Given the description of an element on the screen output the (x, y) to click on. 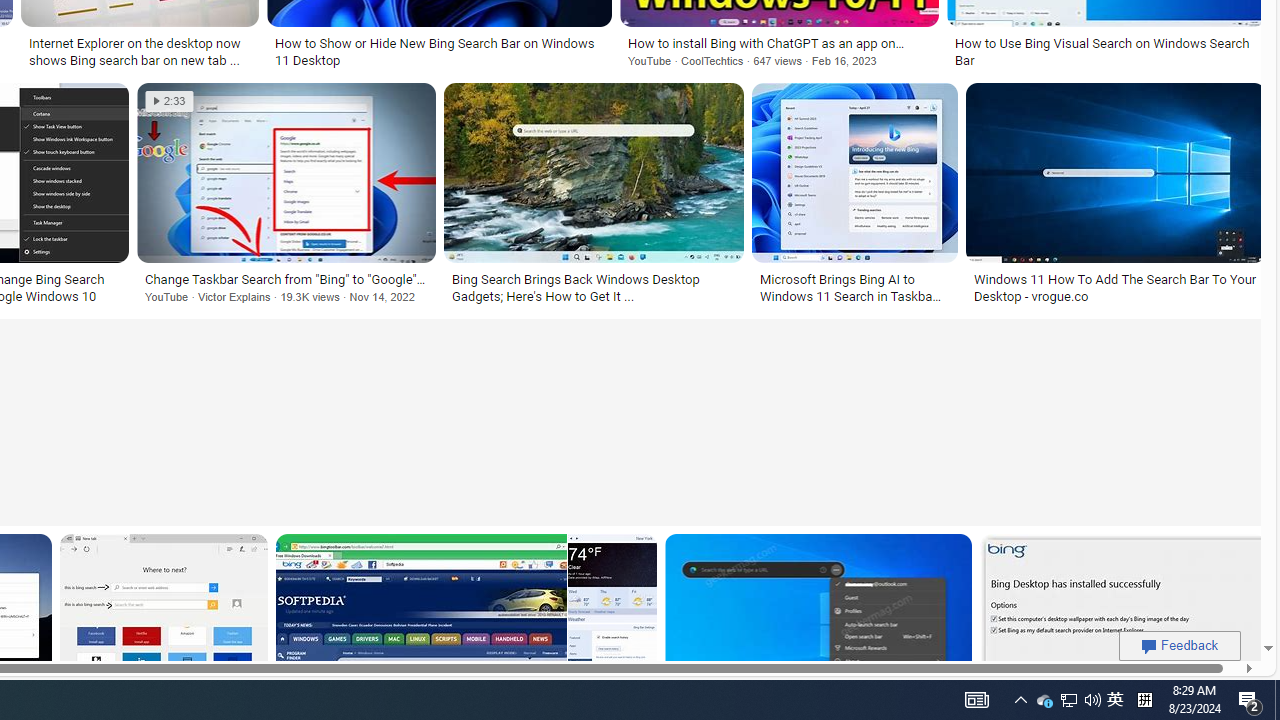
How to Use Bing Visual Search on Windows Search Bar (1106, 52)
Image result for Bing Search Bar Install (1122, 623)
Image result for Bing Search Bar Install (1122, 623)
